Given the description of an element on the screen output the (x, y) to click on. 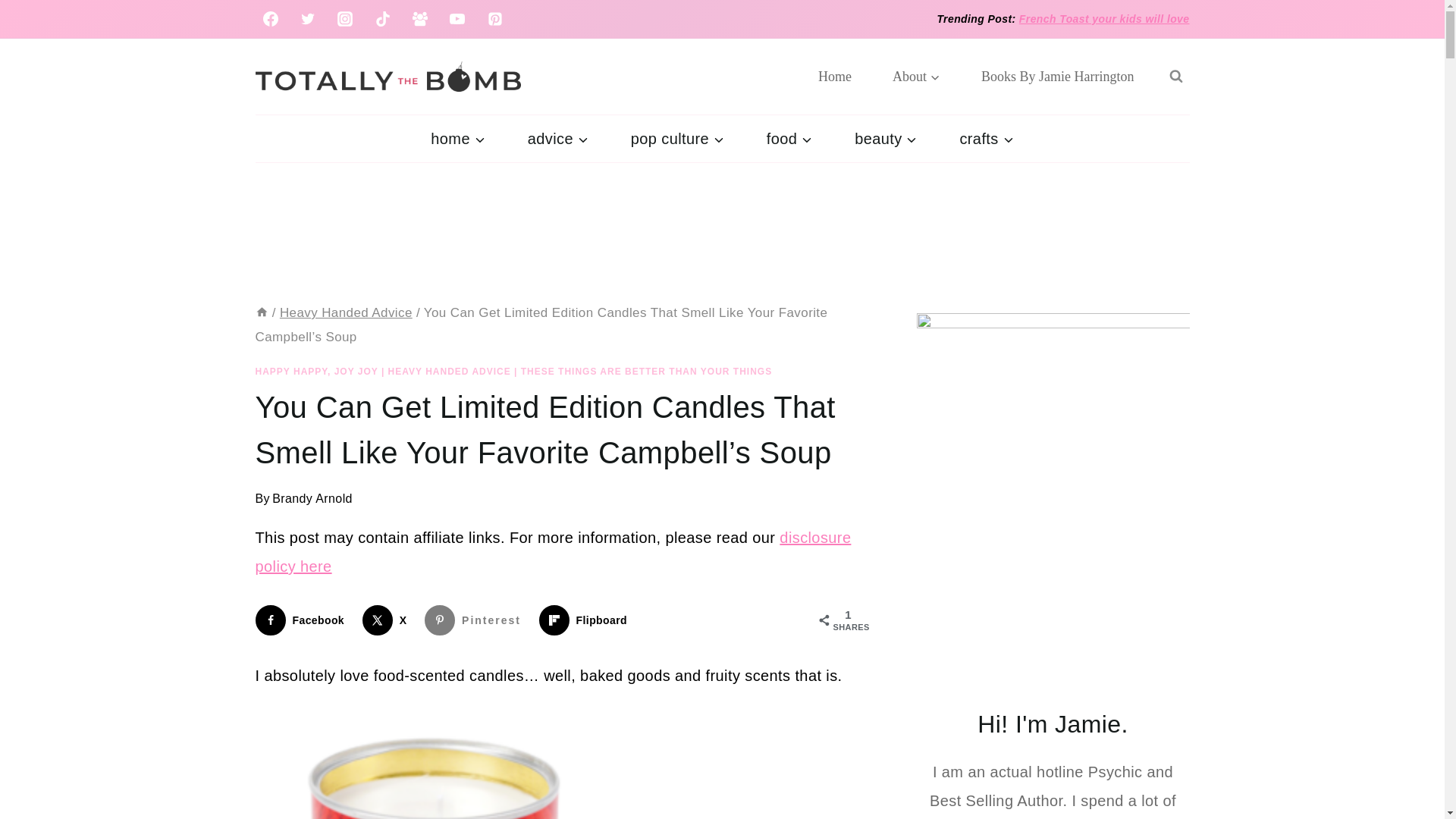
French Toast your kids will love (1104, 19)
Share on Flipboard (585, 620)
Home (260, 312)
About (916, 76)
Share on Facebook (302, 620)
home (457, 138)
Save to Pinterest (476, 620)
Home (834, 76)
pop culture (677, 138)
Share on X (387, 620)
